Given the description of an element on the screen output the (x, y) to click on. 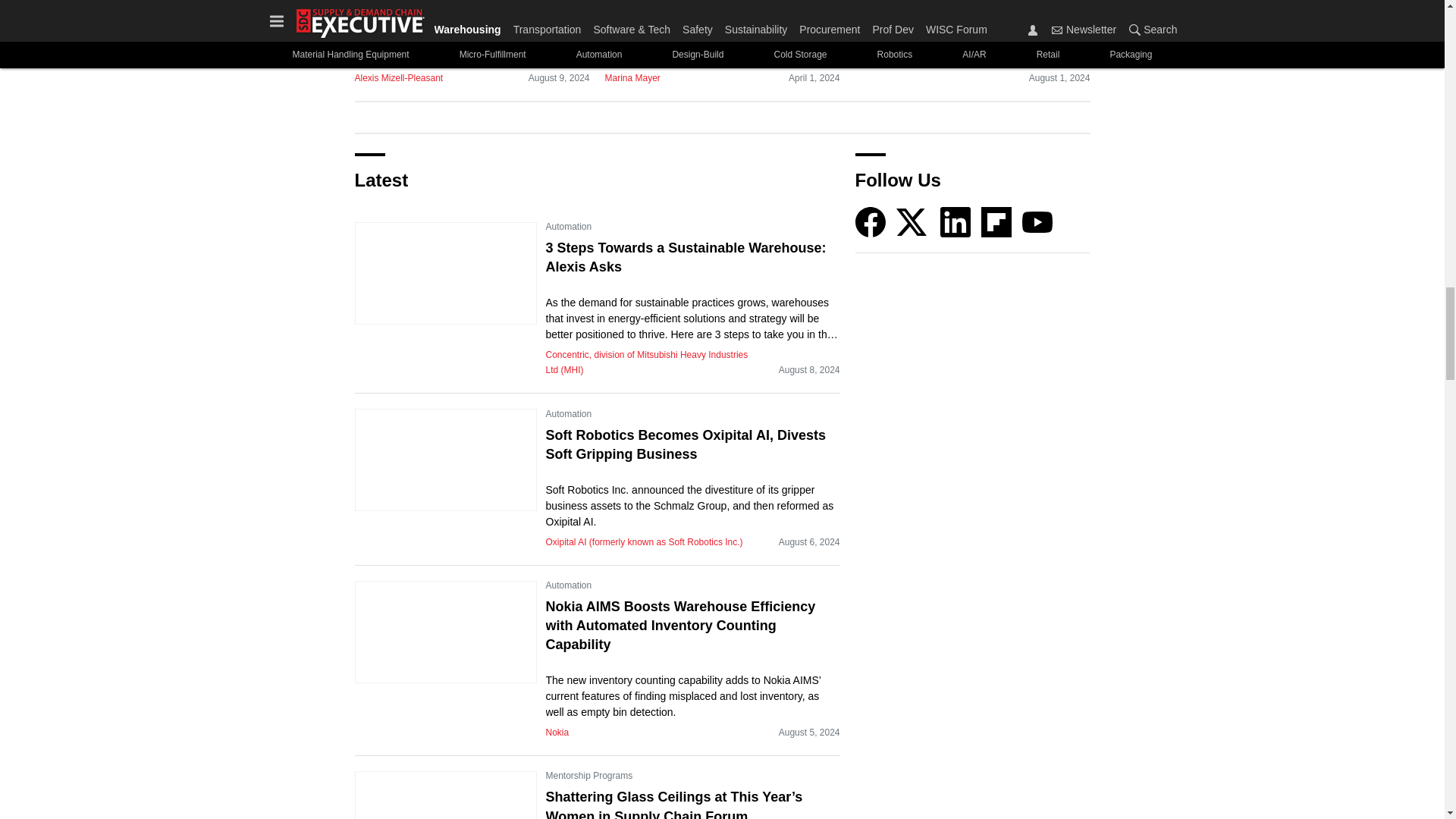
Twitter X icon (911, 222)
LinkedIn icon (955, 222)
Flipboard icon (996, 222)
Facebook icon (870, 222)
YouTube icon (1037, 222)
